Given the description of an element on the screen output the (x, y) to click on. 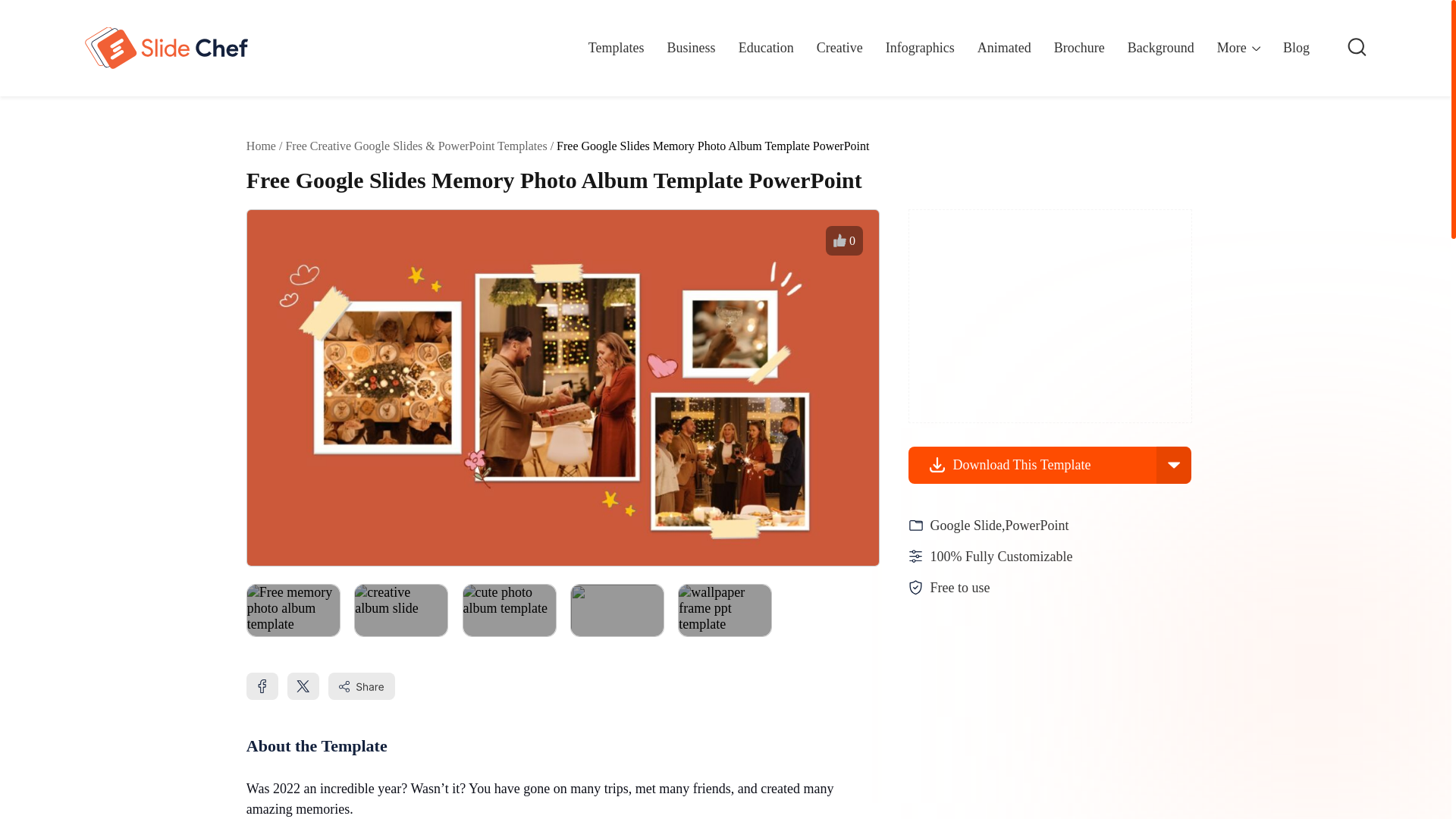
Advertisement (1050, 315)
Background (1159, 47)
Blog (1295, 47)
Education (765, 47)
Creative (839, 47)
Animated (1003, 47)
Brochure (1079, 47)
Advertisement (1021, 719)
Infographics (920, 47)
Templates (616, 47)
Business (691, 47)
More (1238, 53)
